Given the description of an element on the screen output the (x, y) to click on. 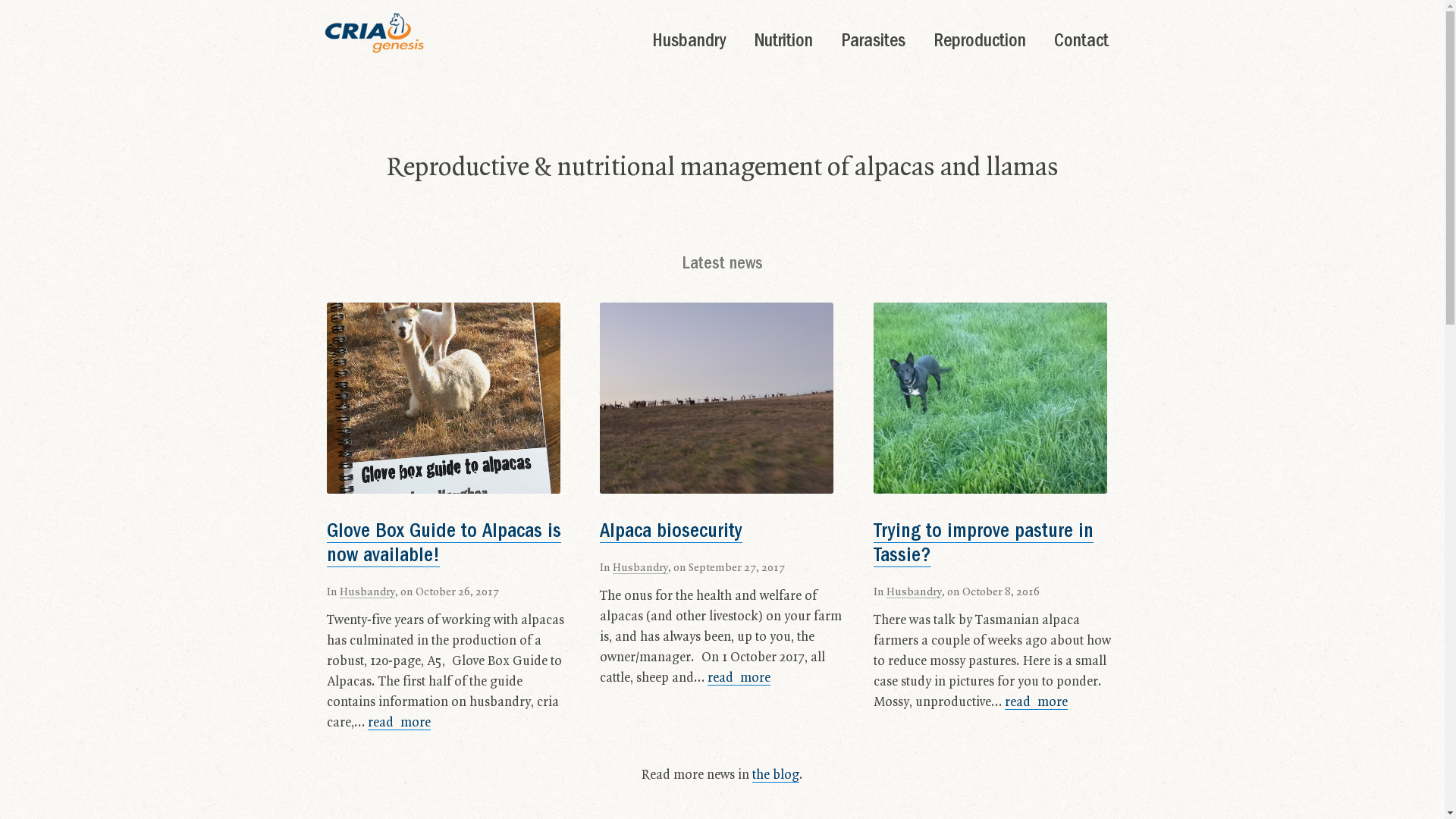
Husbandry Element type: text (367, 591)
Contact Element type: text (1076, 43)
Glove Box Guide to Alpacas is now available! Element type: text (443, 544)
Reproduction Element type: text (974, 43)
read more Element type: text (1035, 701)
Latest news Element type: text (721, 265)
Husbandry Element type: text (913, 591)
Alpaca biosecurity Element type: text (670, 532)
read more Element type: text (398, 722)
the blog Element type: text (775, 774)
Husbandry Element type: text (684, 43)
Nutrition Element type: text (778, 43)
Husbandry Element type: text (640, 567)
read more Element type: text (738, 677)
Parasites Element type: text (868, 43)
Trying to improve pasture in Tassie? Element type: text (983, 544)
